Given the description of an element on the screen output the (x, y) to click on. 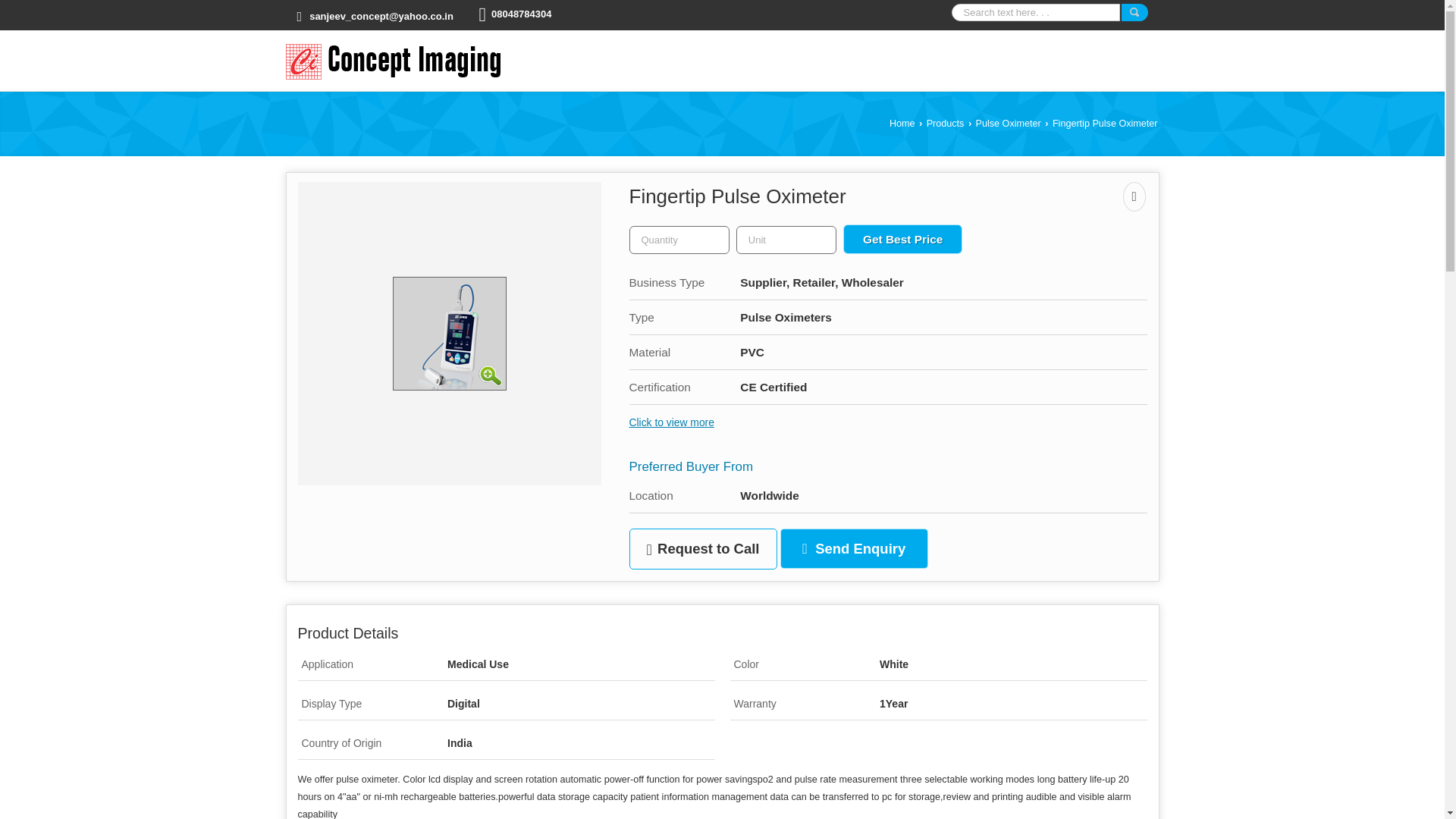
Concept Imaging (395, 60)
Concept Imaging (395, 61)
Search text here. . . (1034, 12)
